Given the description of an element on the screen output the (x, y) to click on. 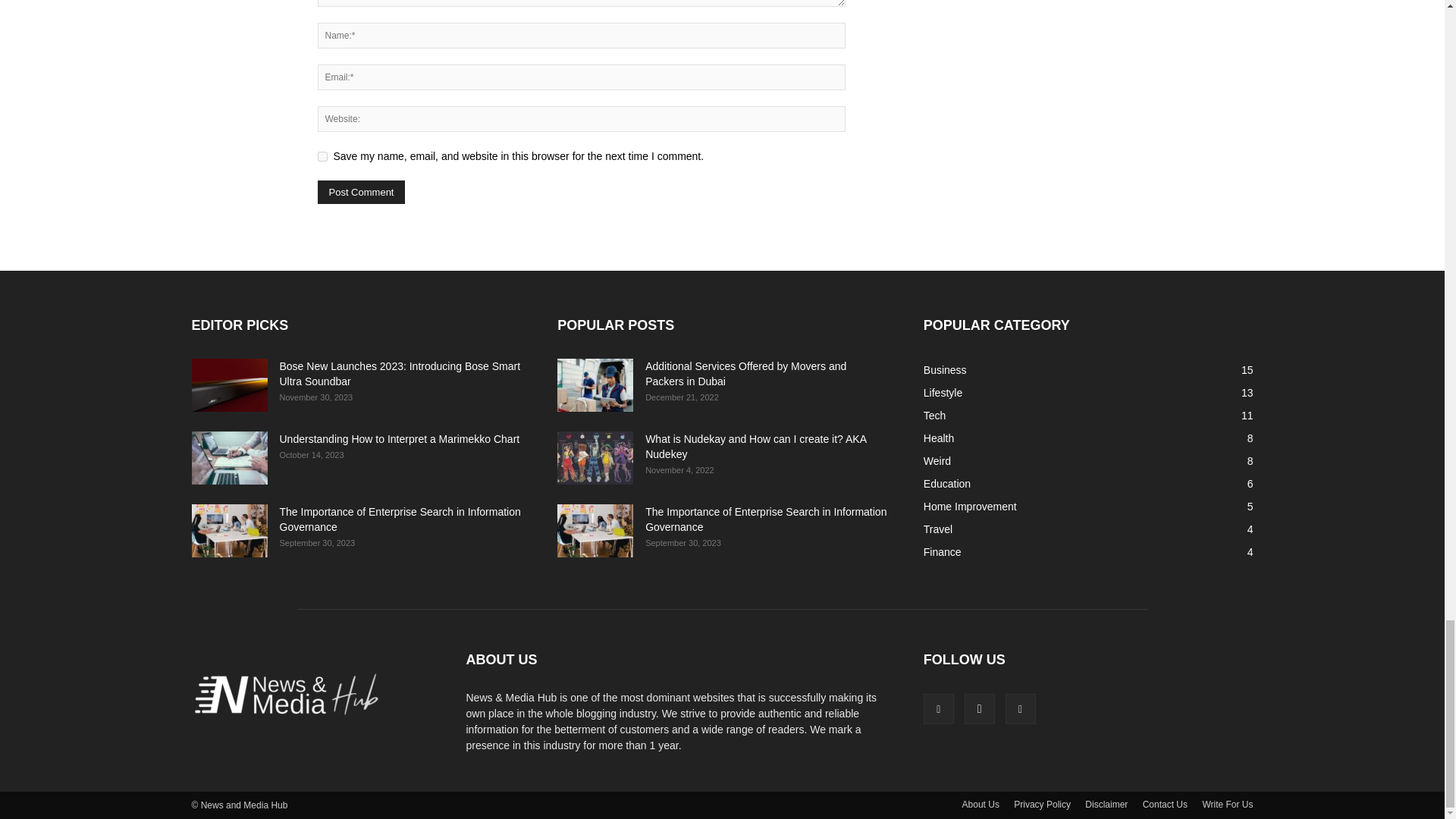
Post Comment (360, 191)
yes (321, 156)
